Given the description of an element on the screen output the (x, y) to click on. 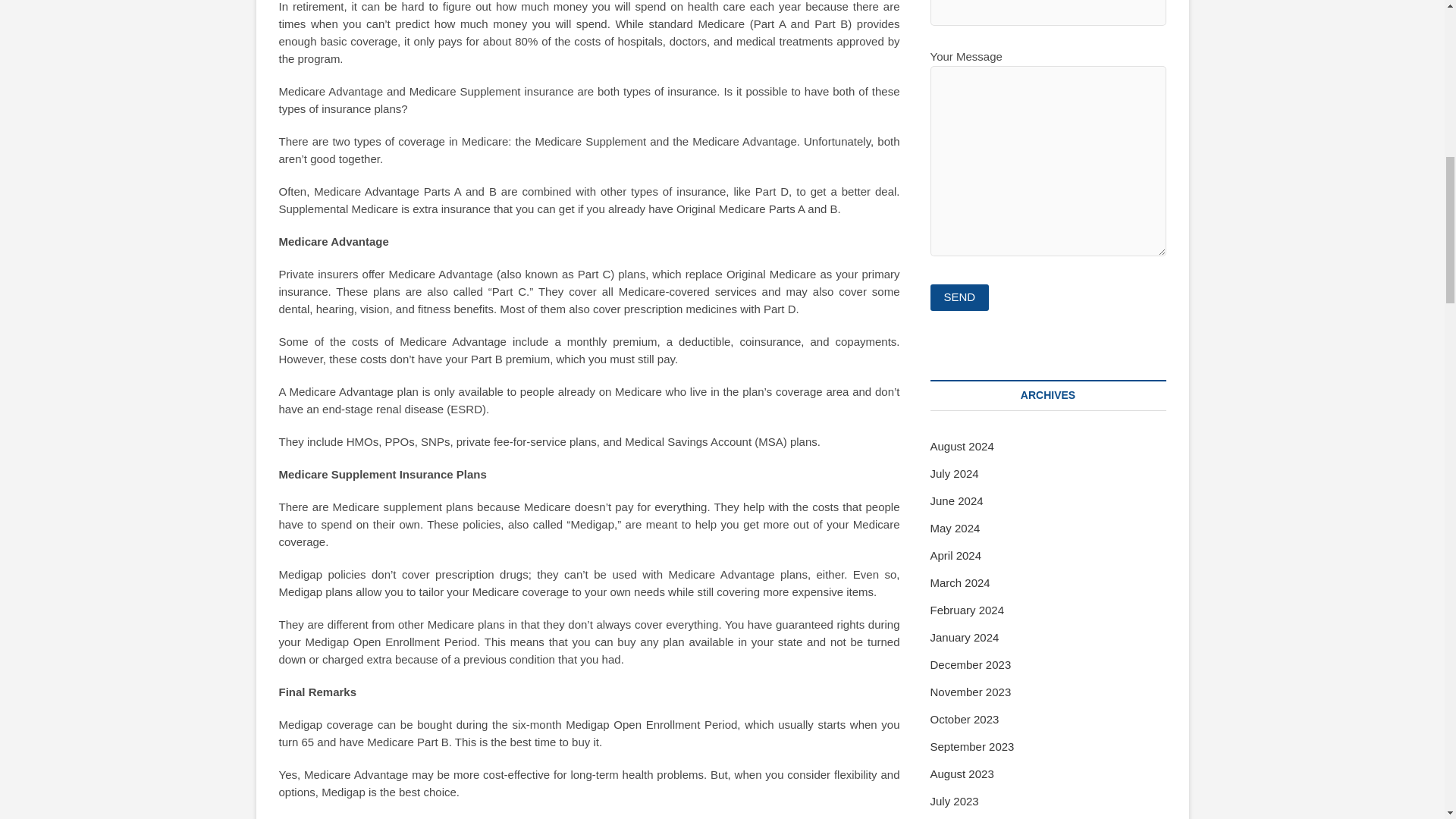
Send (959, 297)
July 2024 (954, 472)
Send (959, 297)
September 2023 (971, 746)
March 2024 (960, 582)
April 2024 (955, 554)
August 2024 (961, 445)
January 2024 (964, 636)
June 2024 (956, 500)
November 2023 (970, 691)
